Given the description of an element on the screen output the (x, y) to click on. 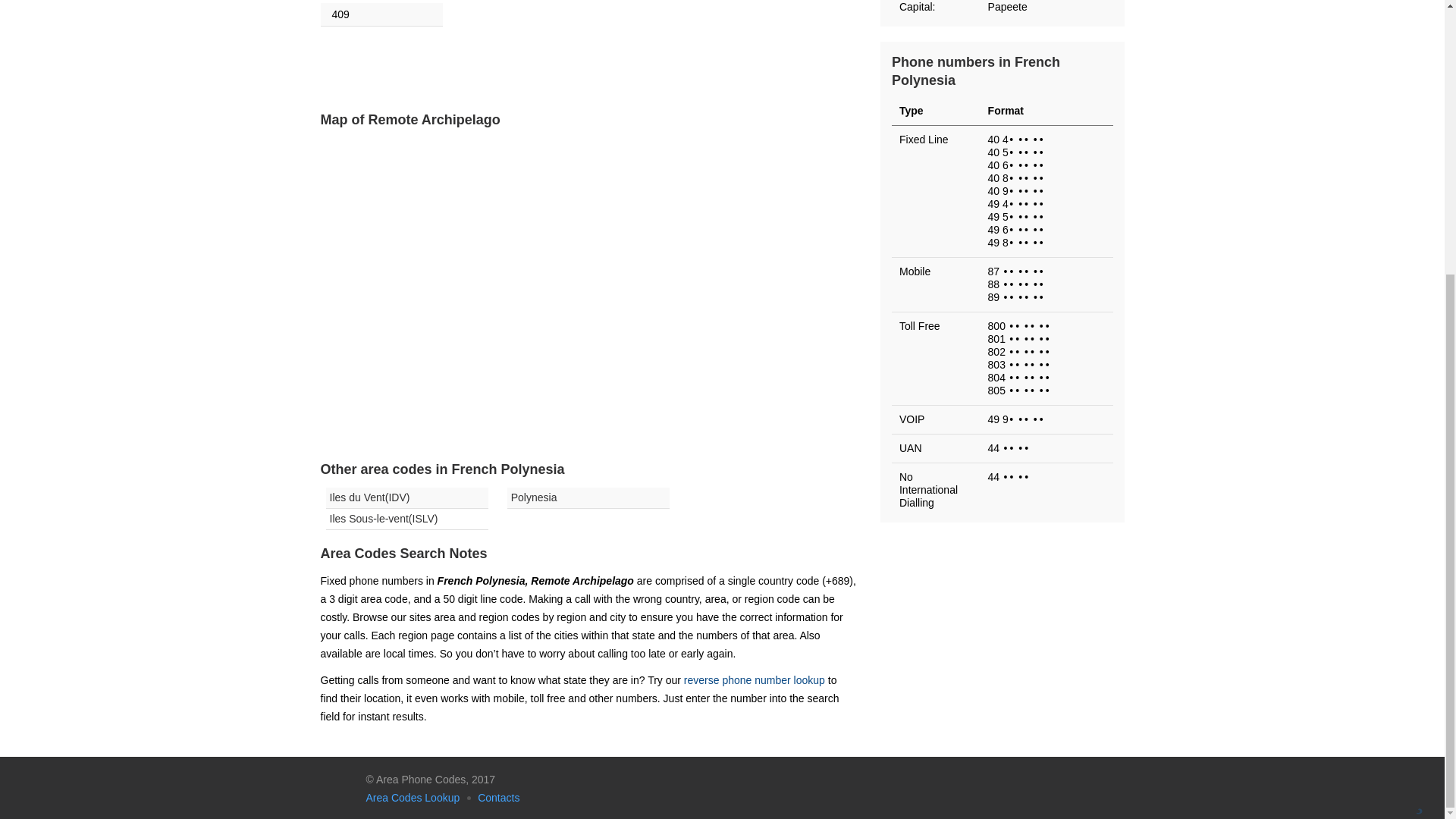
Main Page (336, 787)
